Given the description of an element on the screen output the (x, y) to click on. 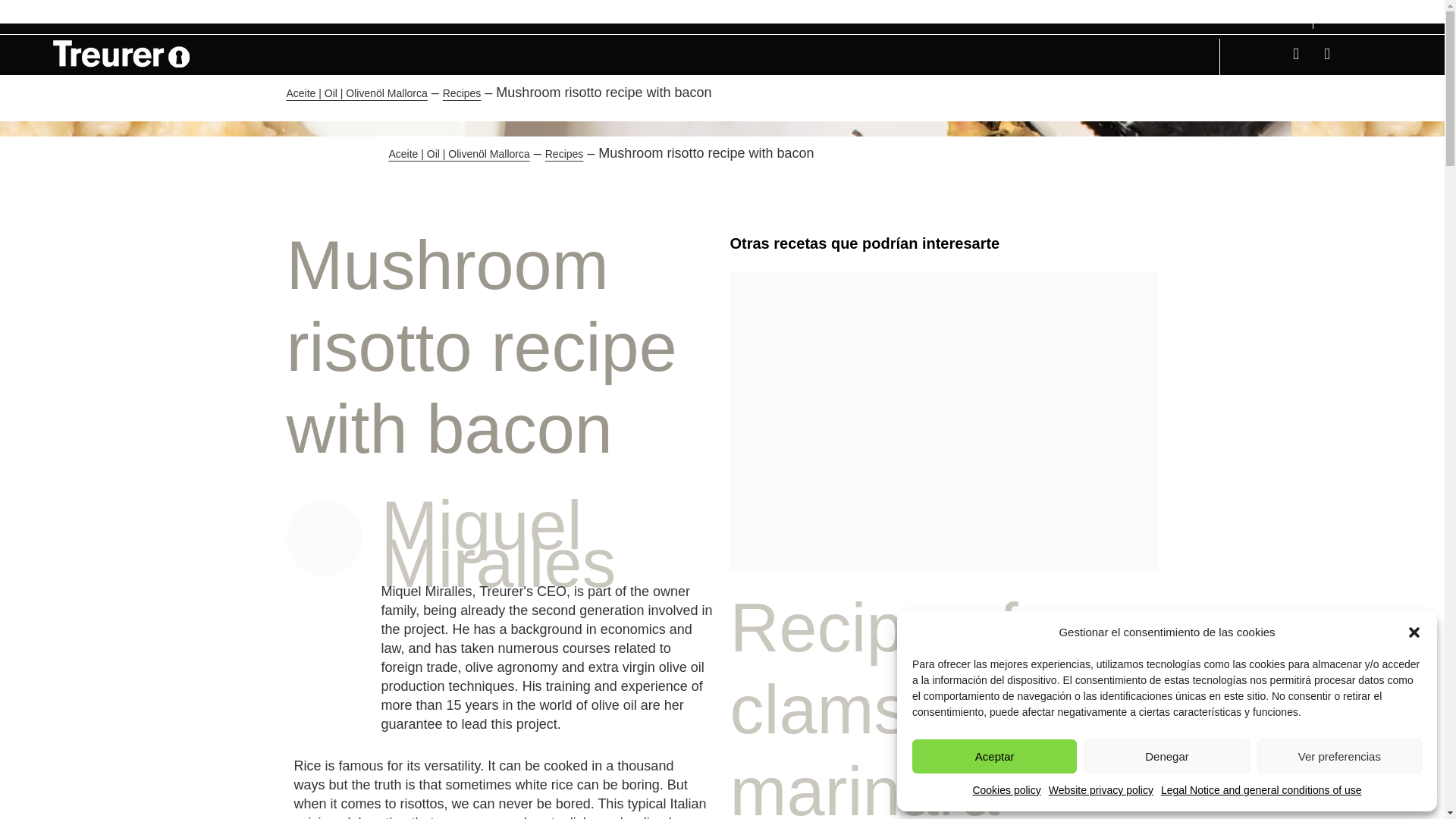
English (1345, 10)
Denegar (1166, 756)
Distributors (622, 12)
Legal Notice and general conditions of use (1260, 790)
Contact (1227, 13)
Recipes (791, 12)
Olive oil culture (729, 12)
Ver preferencias (1339, 756)
Aceptar (994, 756)
Chefs (670, 12)
